Given the description of an element on the screen output the (x, y) to click on. 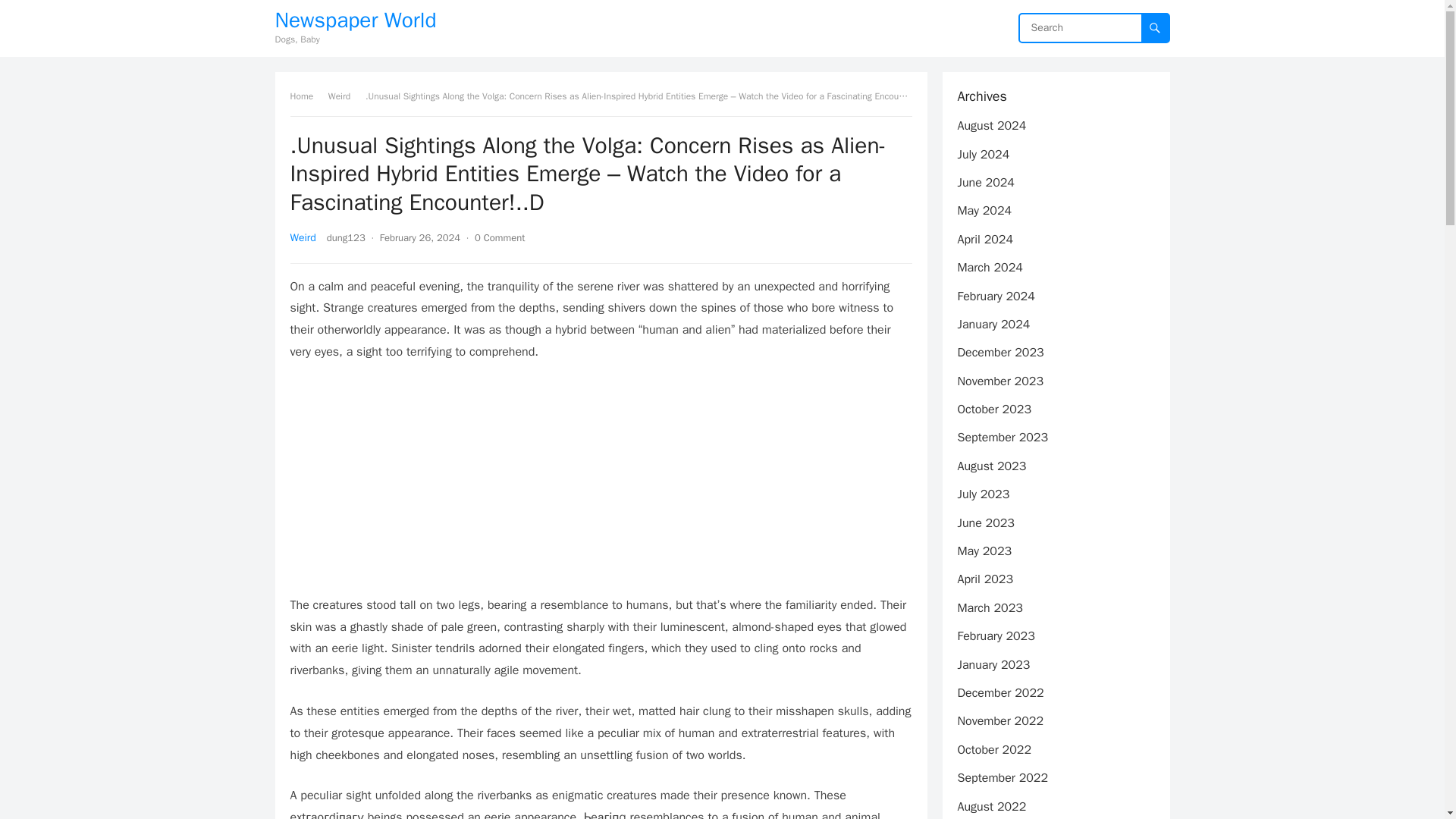
March 2023 (989, 607)
dung123 (345, 237)
August 2024 (991, 125)
May 2024 (983, 210)
April 2023 (984, 579)
October 2022 (993, 749)
November 2022 (999, 720)
Weird (302, 237)
Posts by dung123 (345, 237)
Weird (345, 96)
July 2023 (982, 494)
September 2023 (1002, 437)
February 2023 (994, 635)
October 2023 (993, 409)
May 2023 (983, 550)
